Given the description of an element on the screen output the (x, y) to click on. 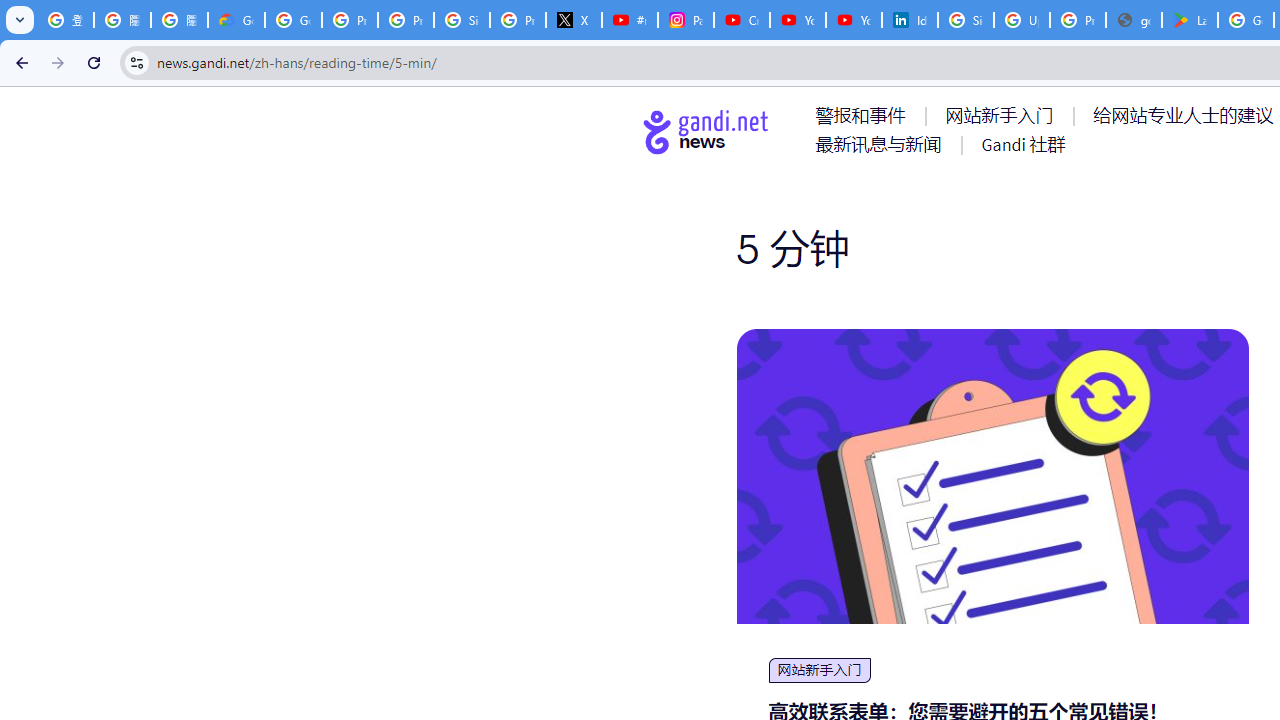
YouTube Culture & Trends - YouTube Top 10, 2021 (853, 20)
AutomationID: menu-item-77762 (1003, 115)
Last Shelter: Survival - Apps on Google Play (1190, 20)
Privacy Help Center - Policies Help (349, 20)
